Given the description of an element on the screen output the (x, y) to click on. 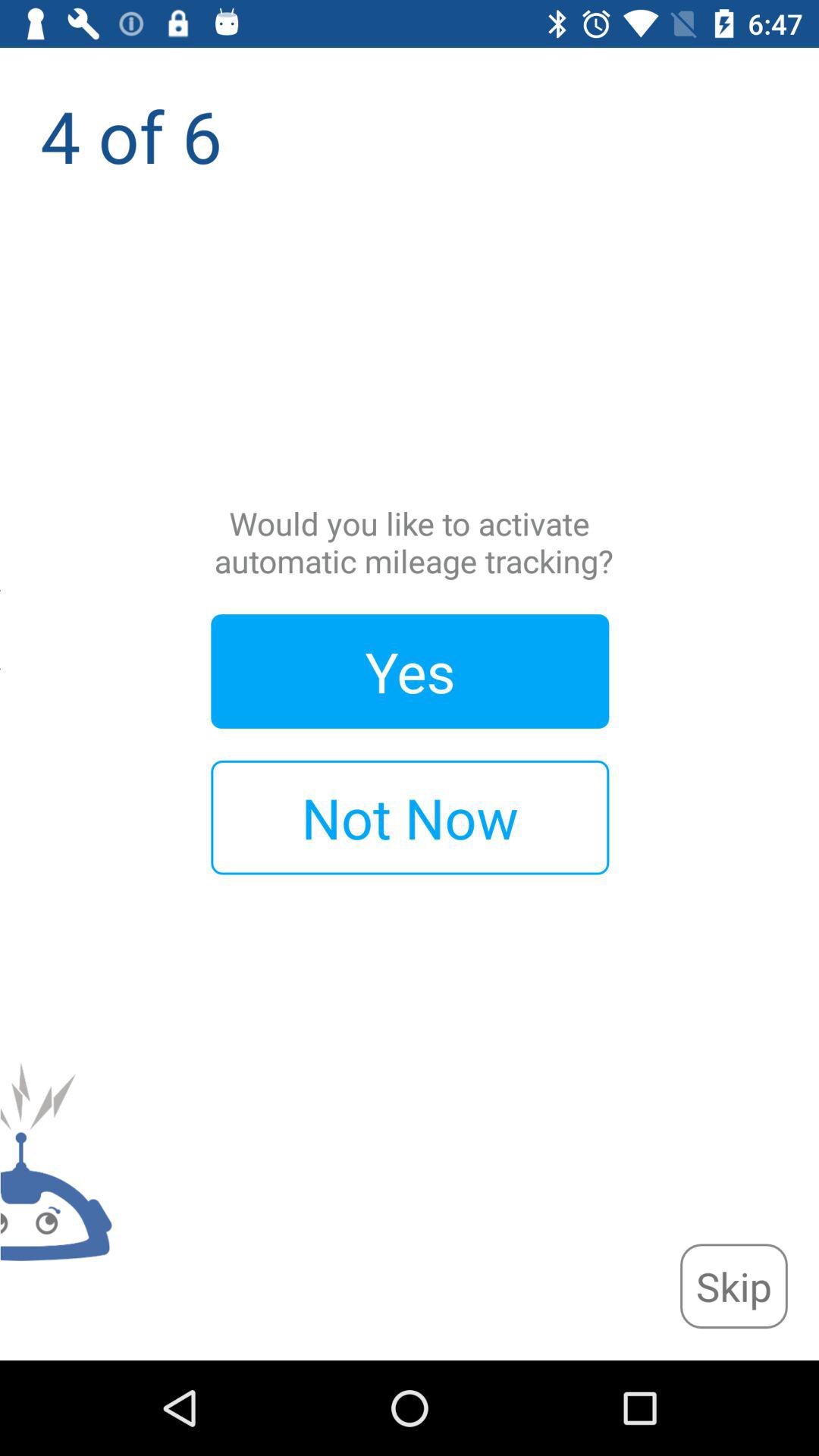
tap button above the not now button (409, 671)
